Given the description of an element on the screen output the (x, y) to click on. 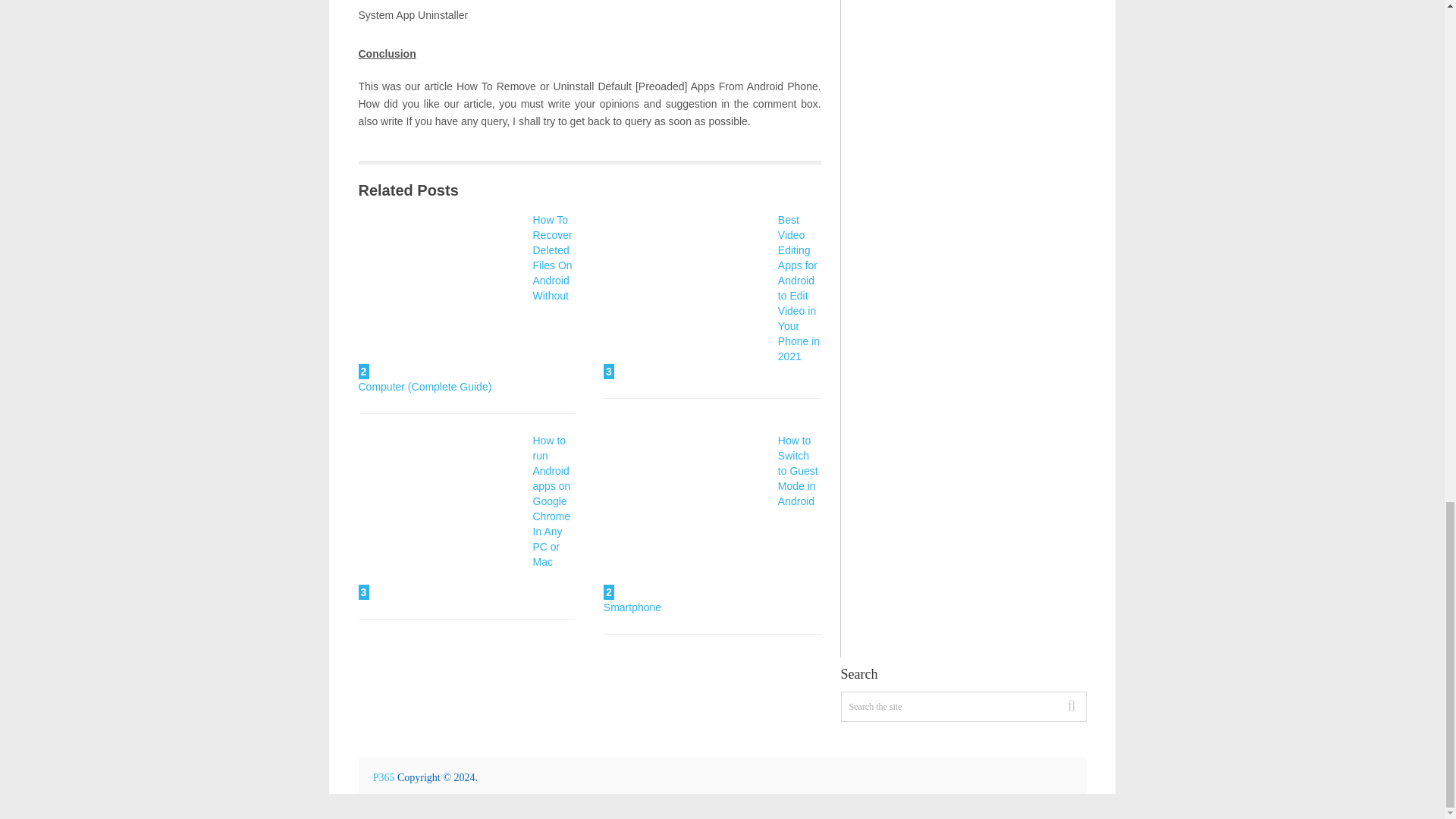
3 (687, 295)
How to Switch to Guest Mode in Android Smartphone (711, 523)
How to run Android apps on Google Chrome In Any PC or Mac (441, 516)
2 (687, 516)
2 (441, 295)
3 (441, 516)
How to Switch to Guest Mode in Android Smartphone (687, 516)
How to Switch to Guest Mode in Android Smartphone (711, 523)
